Given the description of an element on the screen output the (x, y) to click on. 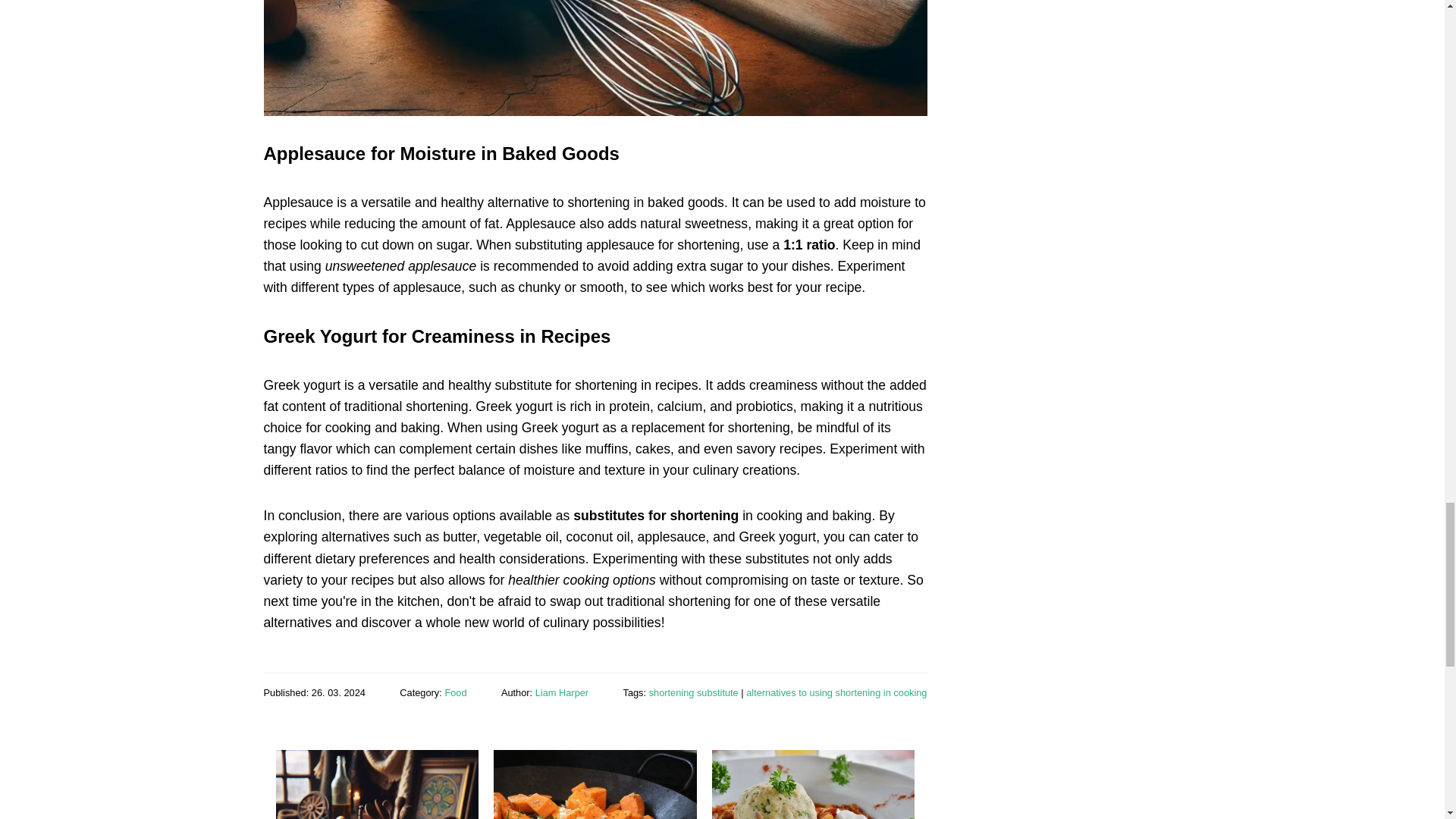
Liam Harper (561, 692)
shortening substitute (693, 692)
Food (454, 692)
alternatives to using shortening in cooking (835, 692)
